Given the description of an element on the screen output the (x, y) to click on. 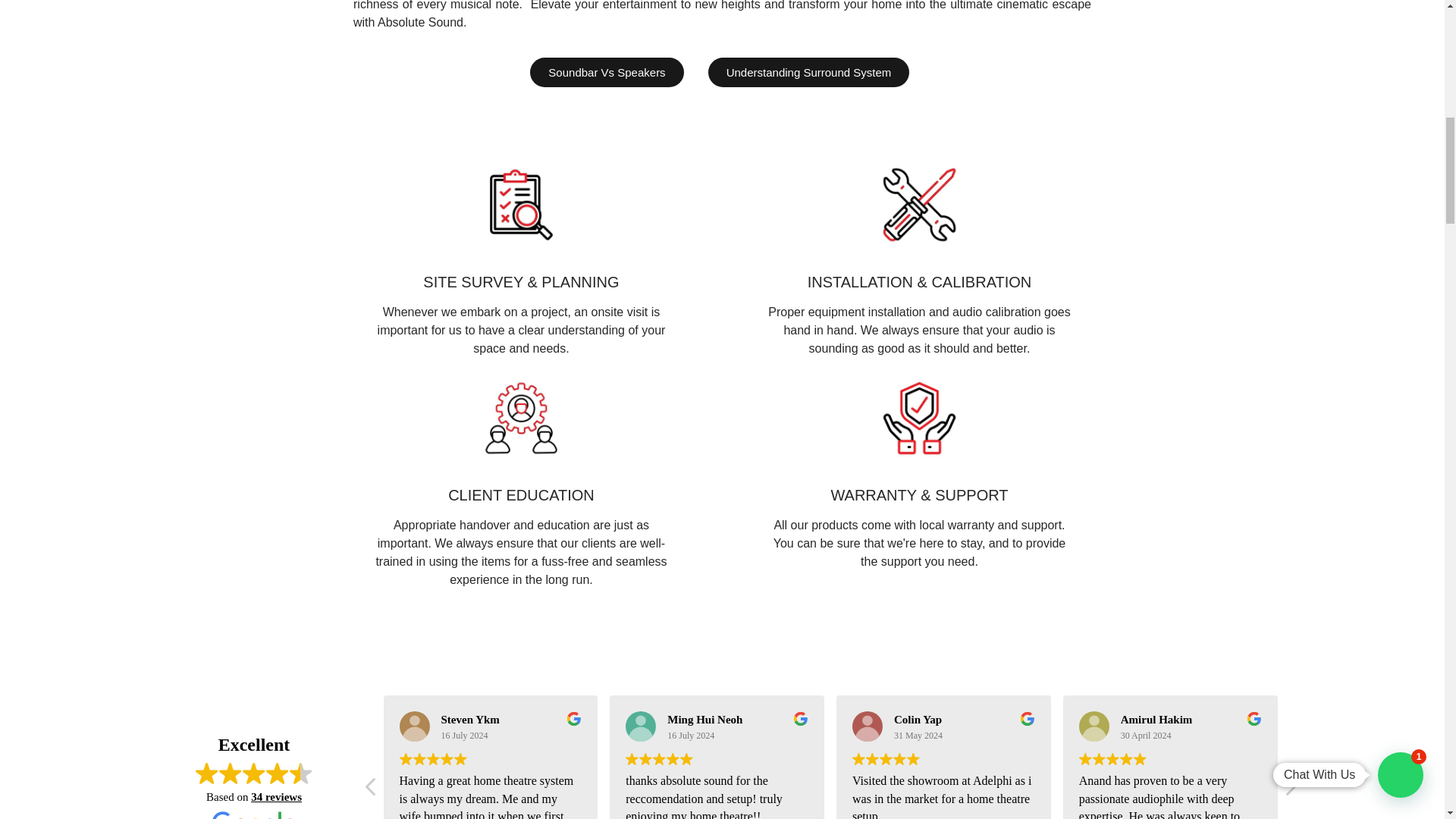
34 reviews (275, 797)
Soundbar Vs Speakers (605, 71)
Understanding Surround System (808, 71)
